Given the description of an element on the screen output the (x, y) to click on. 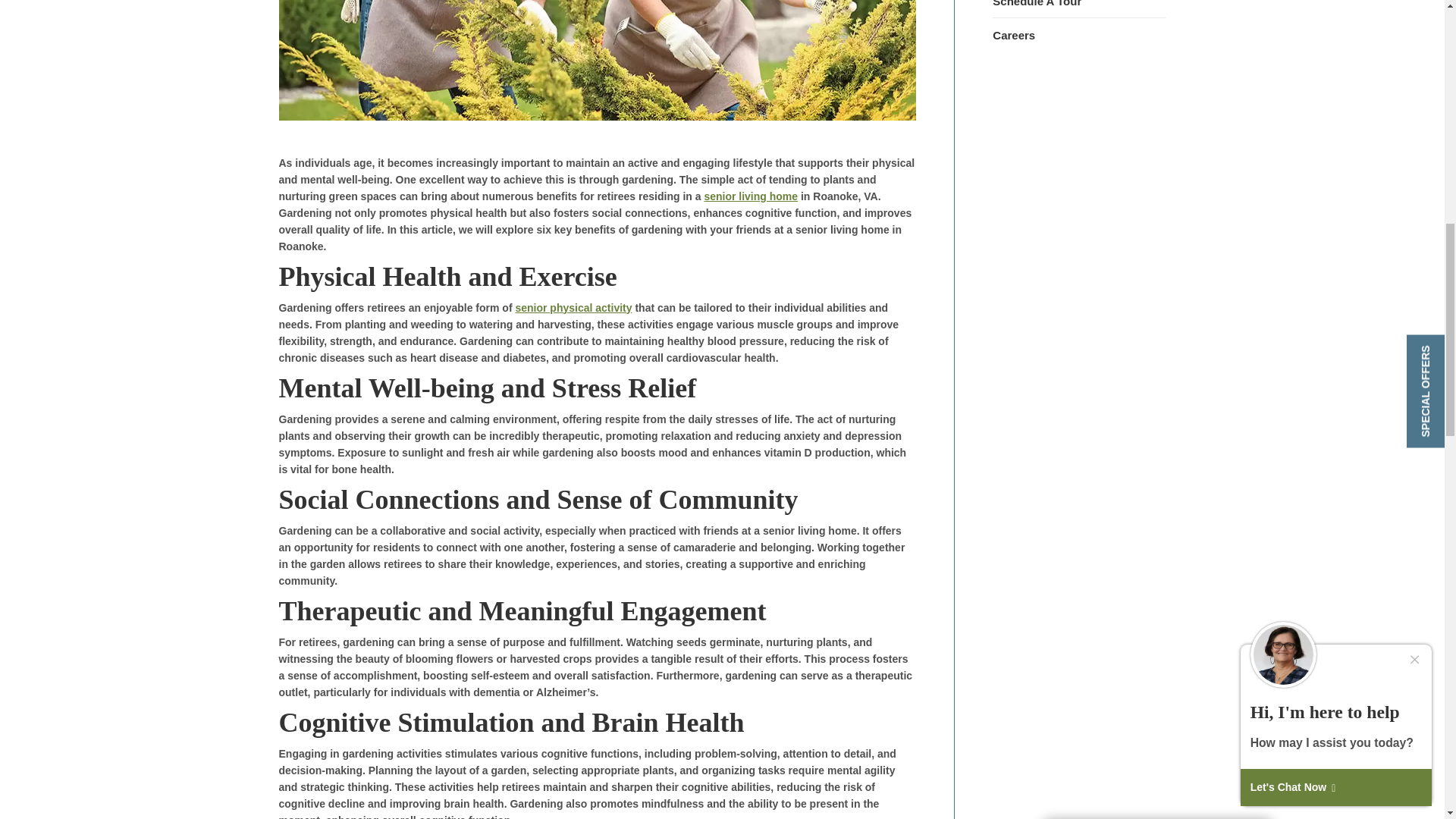
Elderly couple working in garden (598, 60)
